Given the description of an element on the screen output the (x, y) to click on. 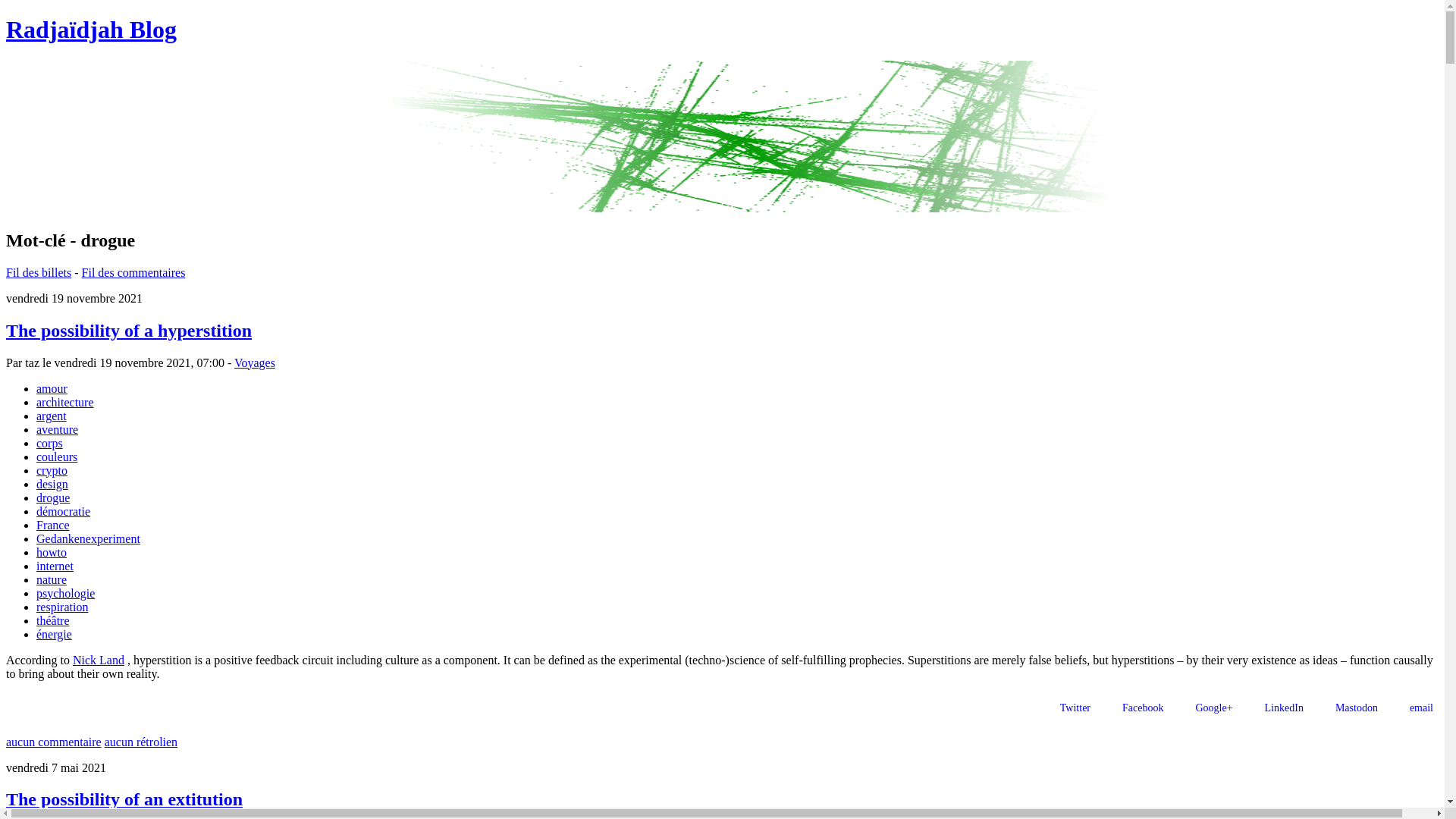
Fil des billets (38, 272)
Facebook (1134, 707)
Fil des commentaires (133, 272)
design (52, 483)
Partager ceci sur Facebook (1134, 707)
Mastodon (1348, 707)
argent (51, 415)
LinkedIn (1275, 707)
drogue (52, 497)
architecture (65, 401)
psychologie (65, 593)
email (1413, 707)
aventure (57, 429)
Partager ceci sur Twitter (1067, 707)
couleurs (56, 456)
